Given the description of an element on the screen output the (x, y) to click on. 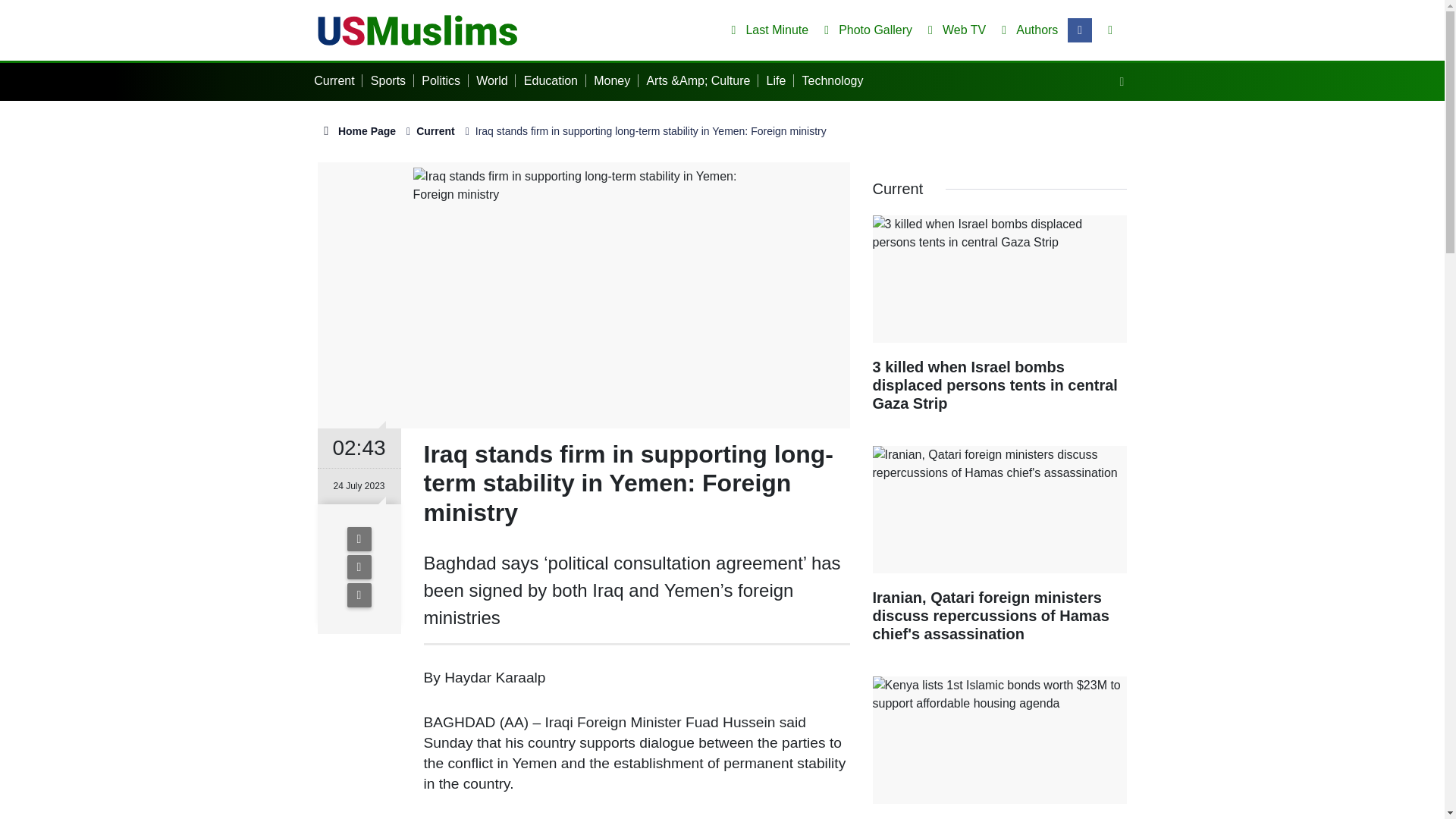
Home Page (356, 131)
Life (780, 80)
Money (616, 80)
Technology (836, 80)
Authors (1026, 29)
Current (338, 80)
Politics (444, 80)
Print (359, 567)
Life (780, 80)
Photo Gallery (865, 29)
Last Minute (766, 29)
Sports (392, 80)
Send to Friend (359, 539)
To Comment (359, 595)
